Given the description of an element on the screen output the (x, y) to click on. 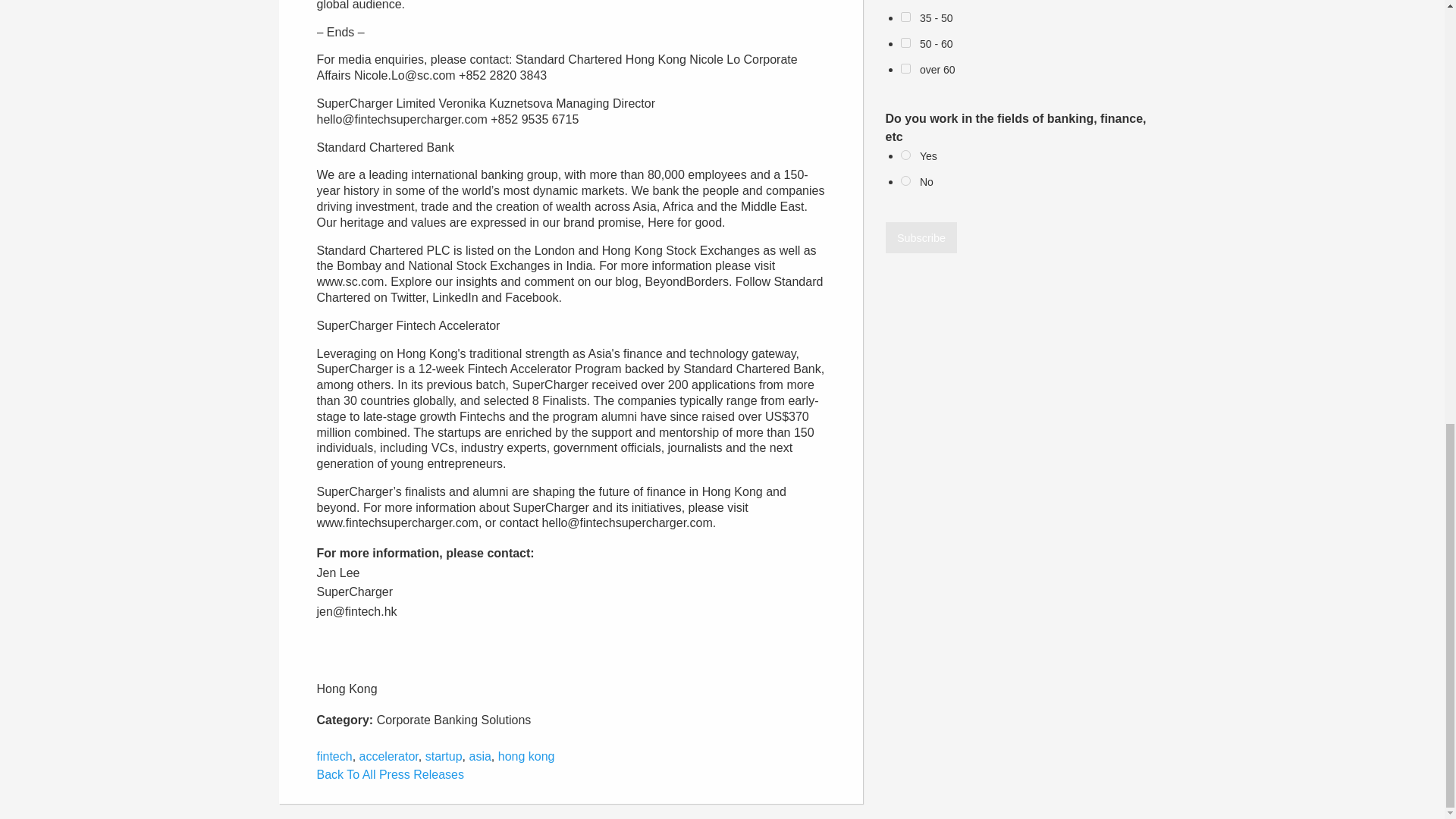
accelerator (389, 756)
asia (479, 756)
8192 (906, 68)
startup (444, 756)
16384 (906, 154)
hong kong (525, 756)
Subscribe (921, 237)
Back To All Press Releases (390, 774)
4096 (906, 42)
32768 (906, 180)
Subscribe (921, 237)
2048 (906, 17)
fintech (334, 756)
